Given the description of an element on the screen output the (x, y) to click on. 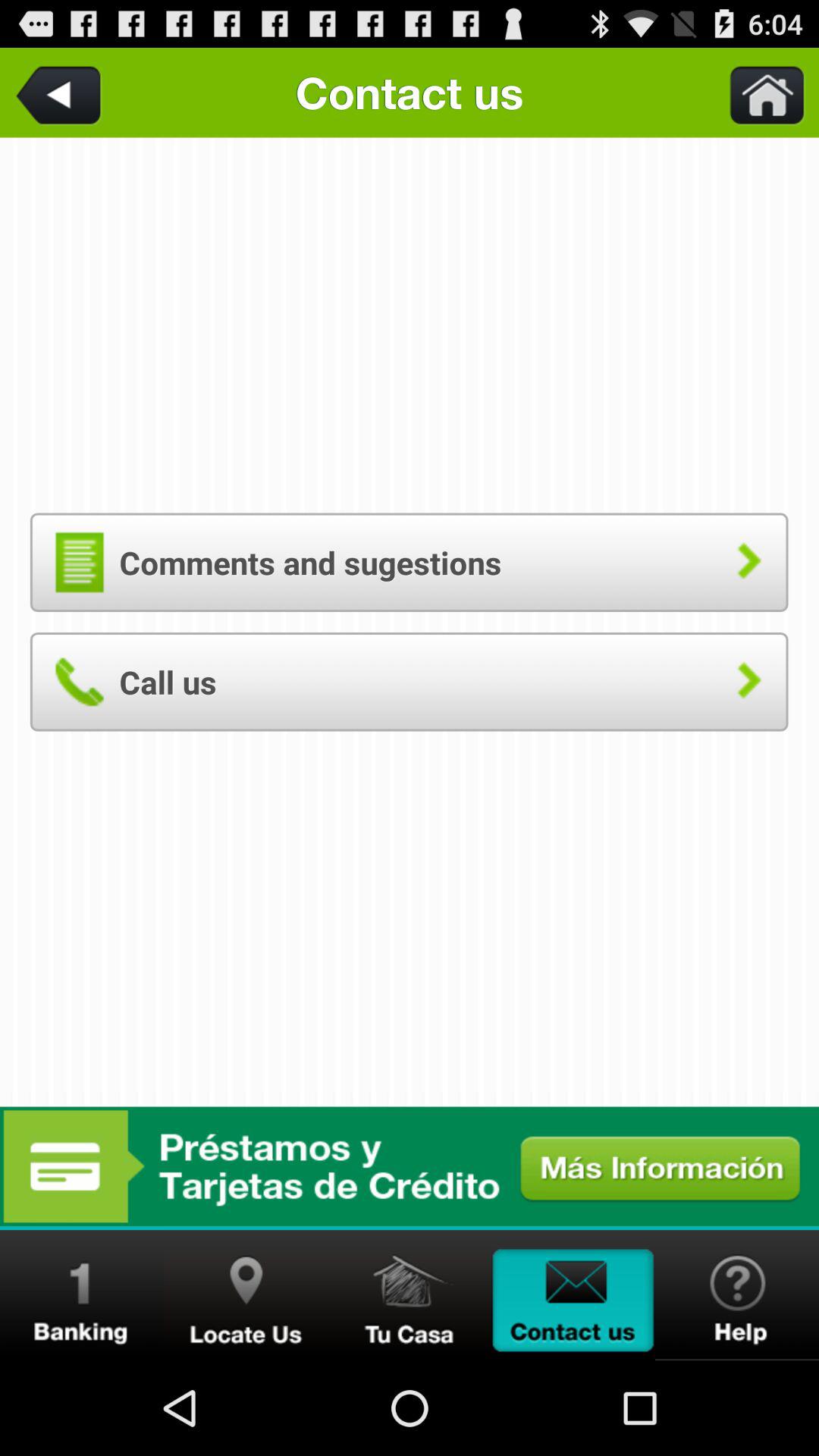
press the icon next to contact us (757, 92)
